Given the description of an element on the screen output the (x, y) to click on. 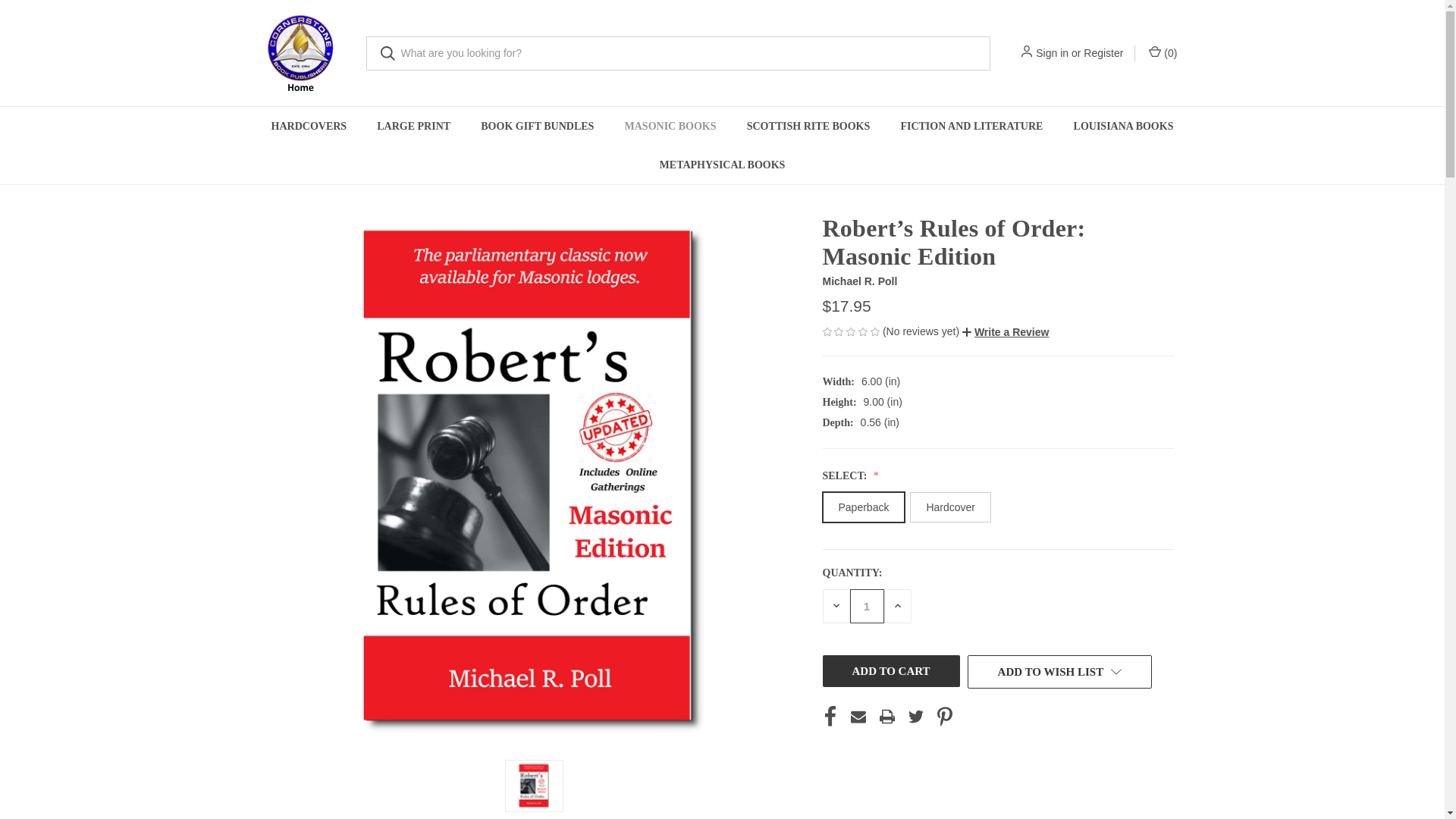
LARGE PRINT (413, 126)
Add to Cart (890, 671)
Cornerstone Book Publishers (299, 52)
Michael R. Poll (859, 281)
Masonic Books (337, 179)
HARDCOVERS (309, 126)
Write a Review (1005, 332)
Print (887, 716)
MASONIC BOOKS (669, 126)
Home (280, 179)
LOUISIANA BOOKS (1123, 126)
DECREASE QUANTITY OF UNDEFINED (835, 605)
BOOK GIFT BUNDLES (536, 126)
